Given the description of an element on the screen output the (x, y) to click on. 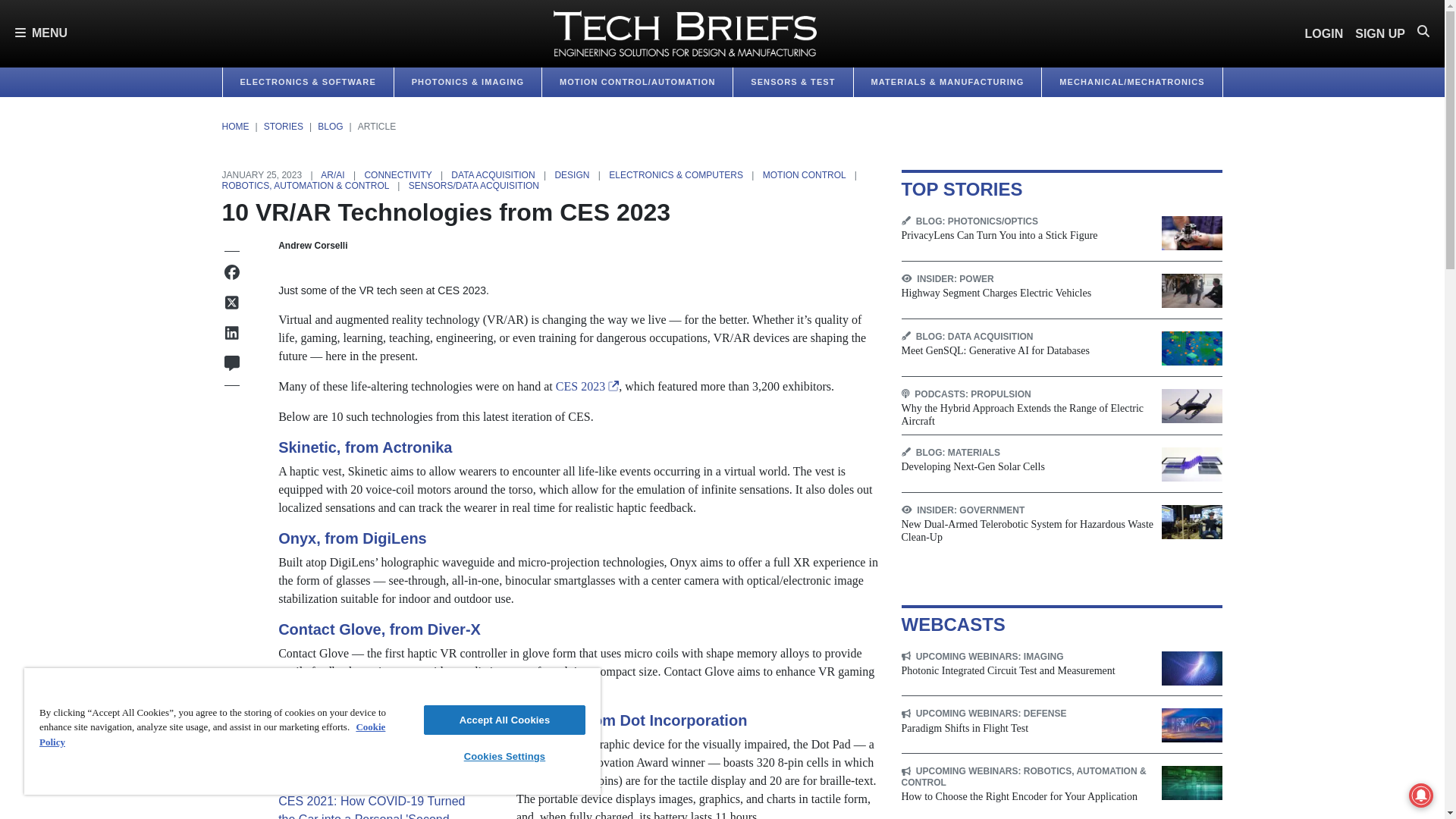
MENU (41, 33)
LOGIN (1323, 32)
SIGN UP (1379, 32)
